Given the description of an element on the screen output the (x, y) to click on. 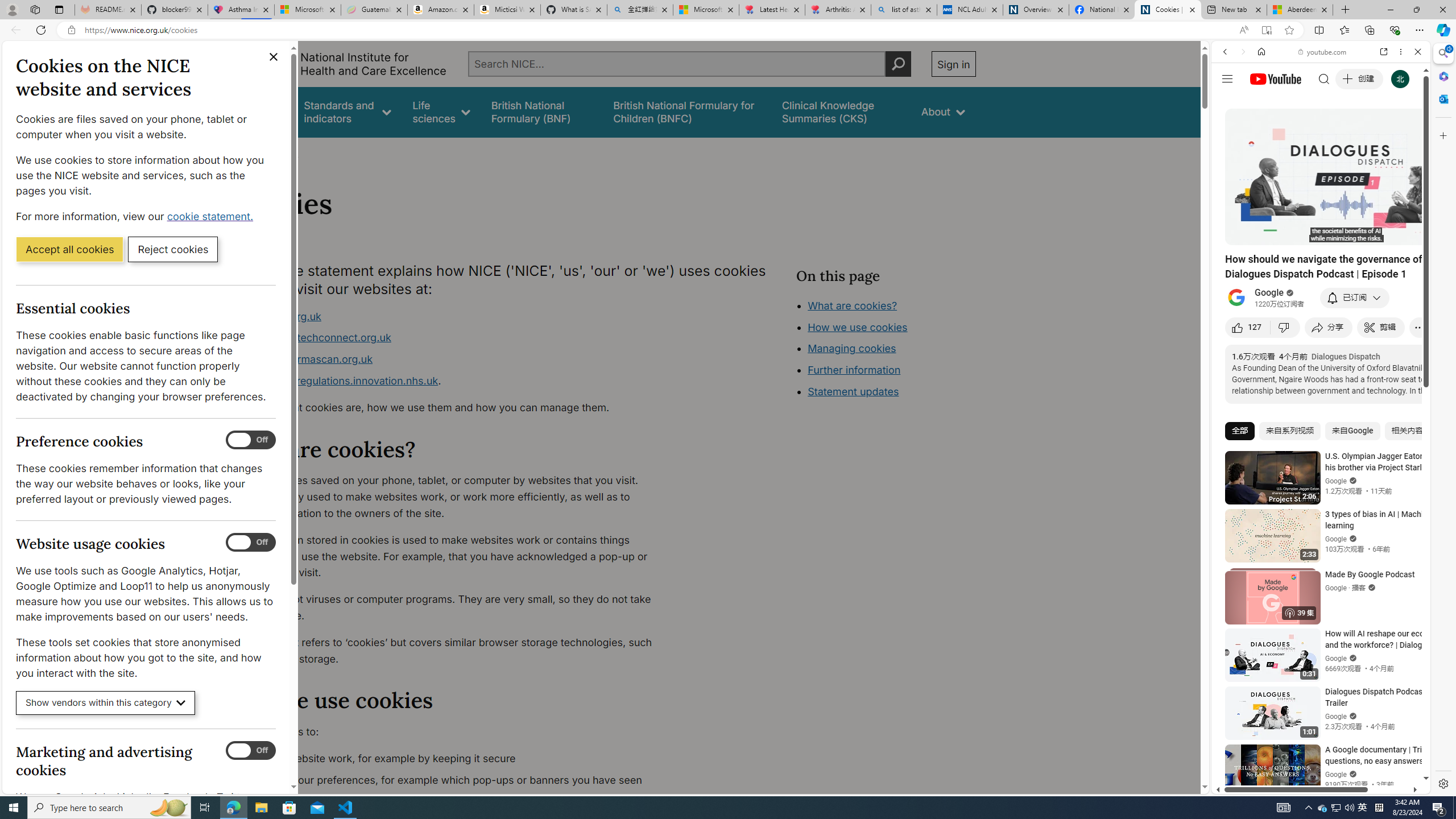
www.healthtechconnect.org.uk (314, 337)
www.healthtechconnect.org.uk (452, 338)
